Given the description of an element on the screen output the (x, y) to click on. 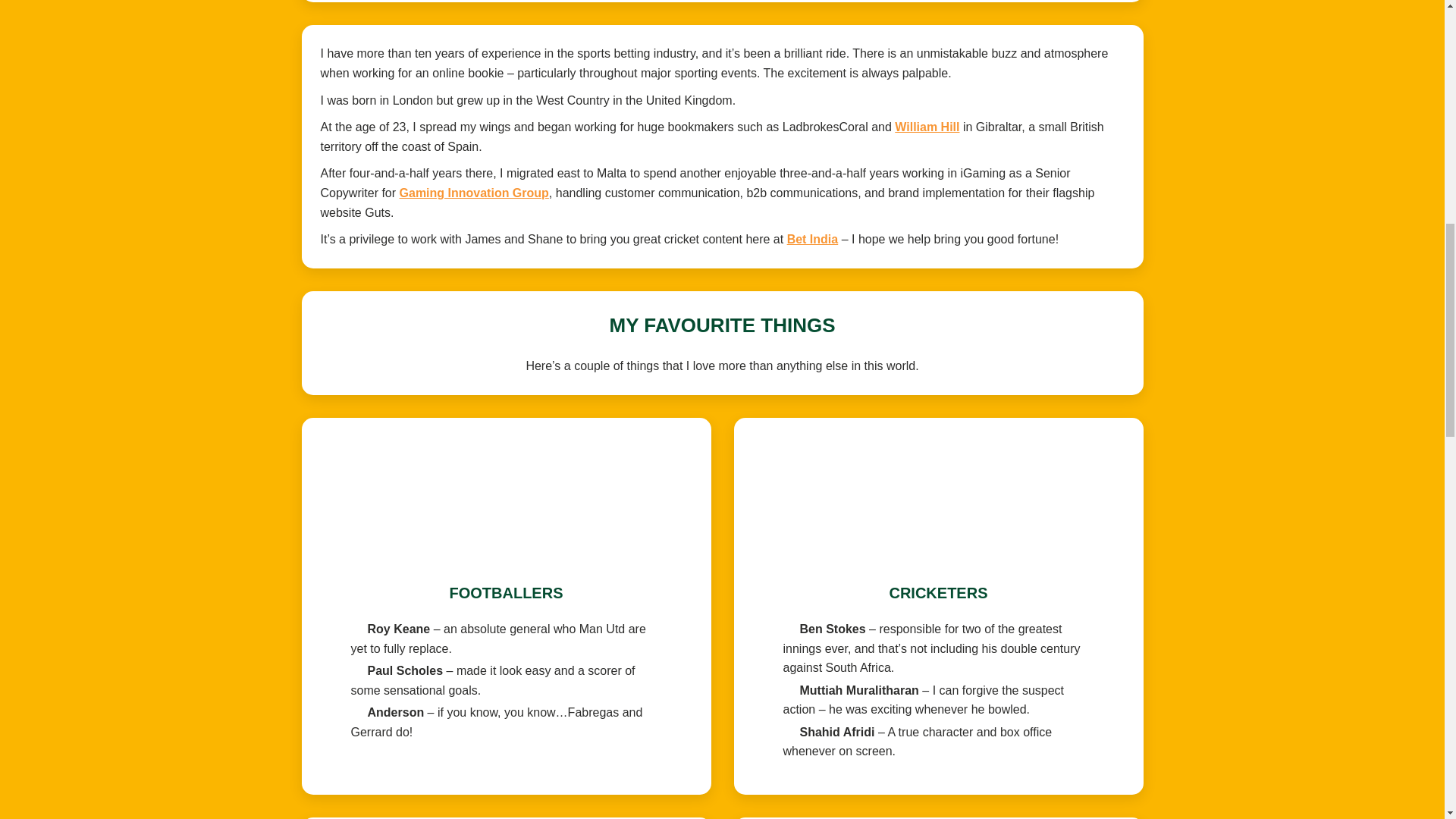
William Hill (927, 126)
Gaming Innovation Group (473, 192)
Bet India (812, 238)
